Given the description of an element on the screen output the (x, y) to click on. 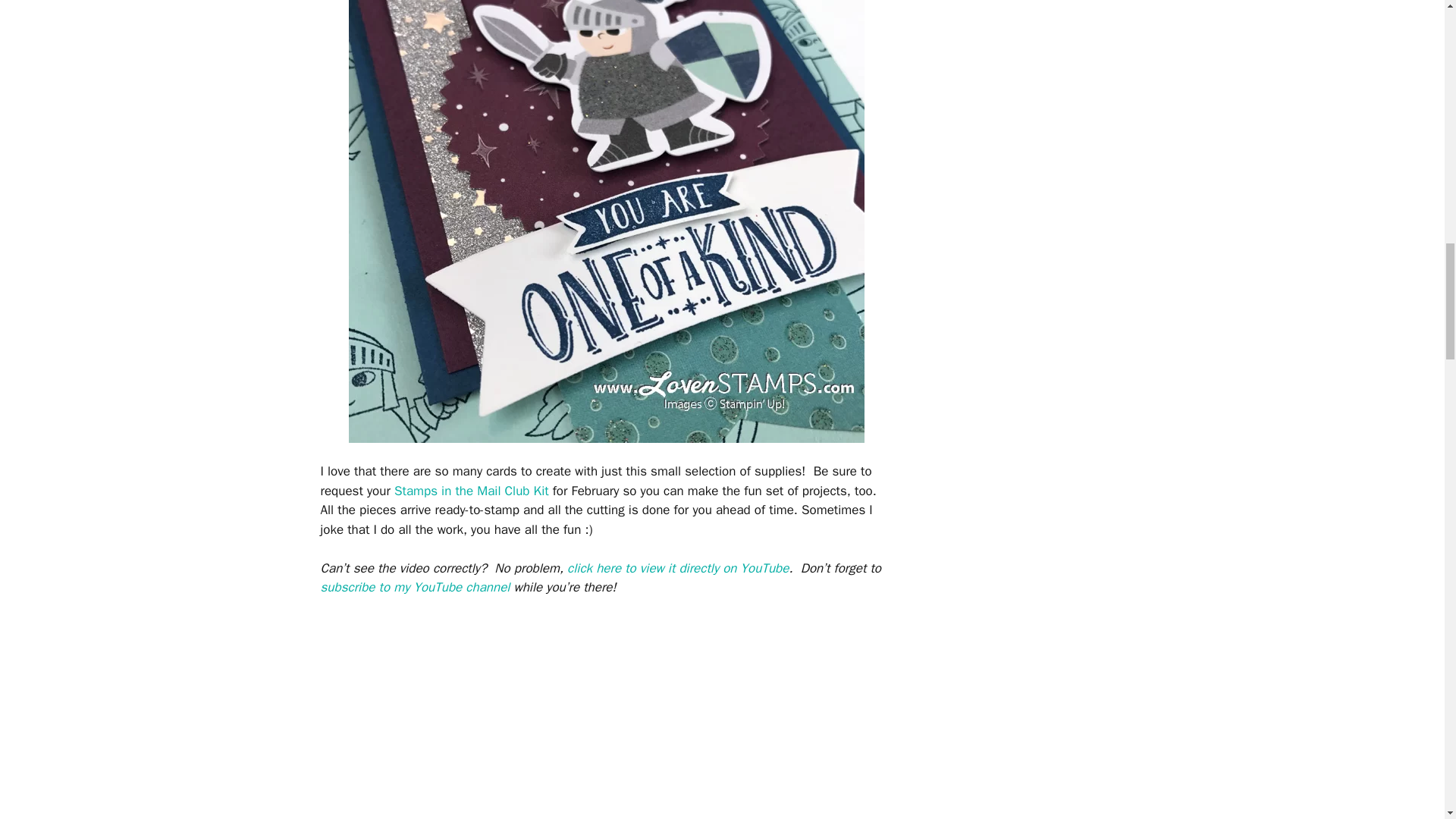
click here to view it directly on YouTube (678, 568)
Stamps in the Mail Club Kit (471, 490)
subscribe to my YouTube channel (414, 587)
